Given the description of an element on the screen output the (x, y) to click on. 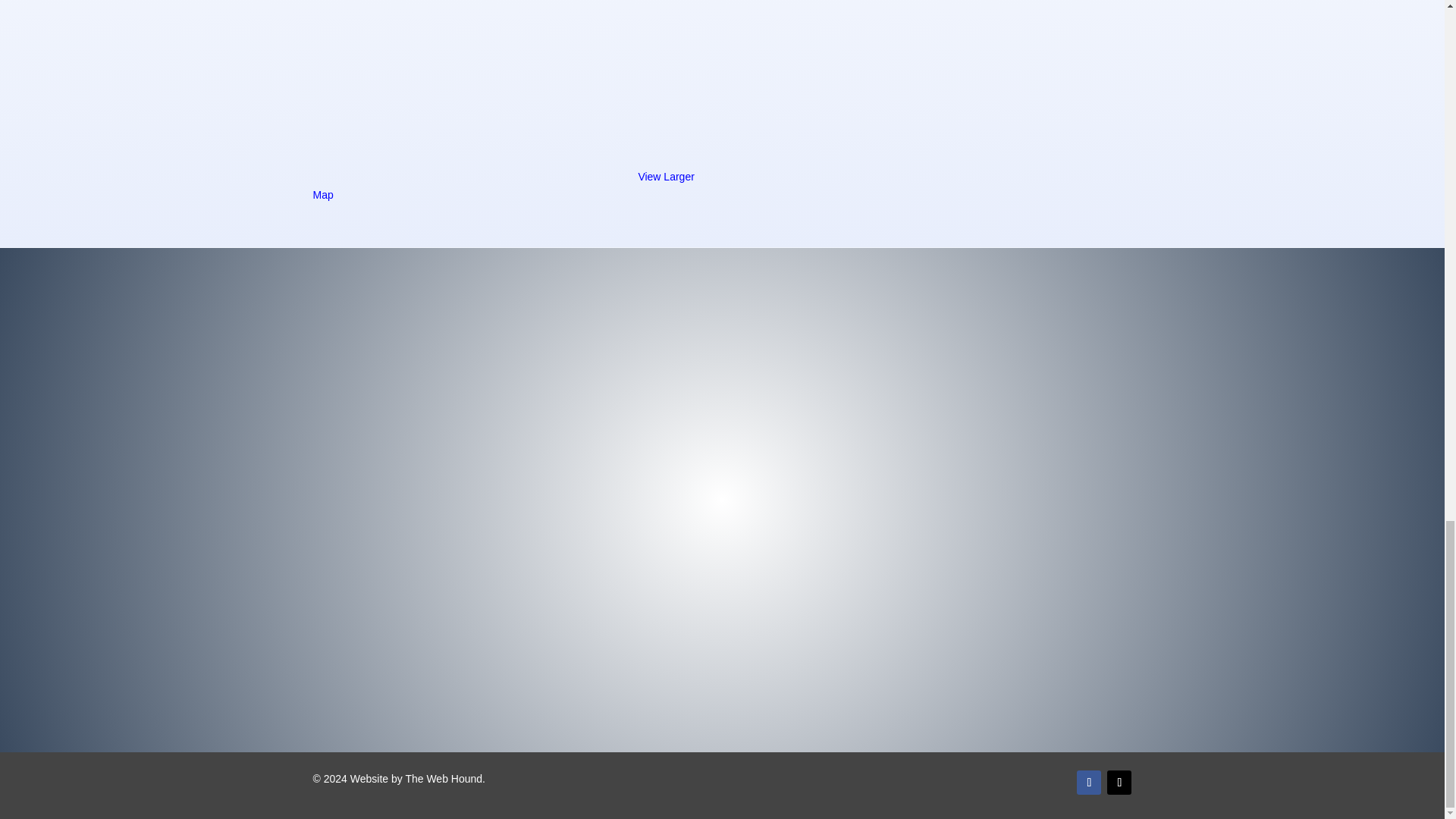
LastMile-th-1 (895, 76)
View Larger Map (503, 185)
Follow on X (1118, 782)
The Web Hound. (444, 778)
Follow on Facebook (1088, 782)
